Given the description of an element on the screen output the (x, y) to click on. 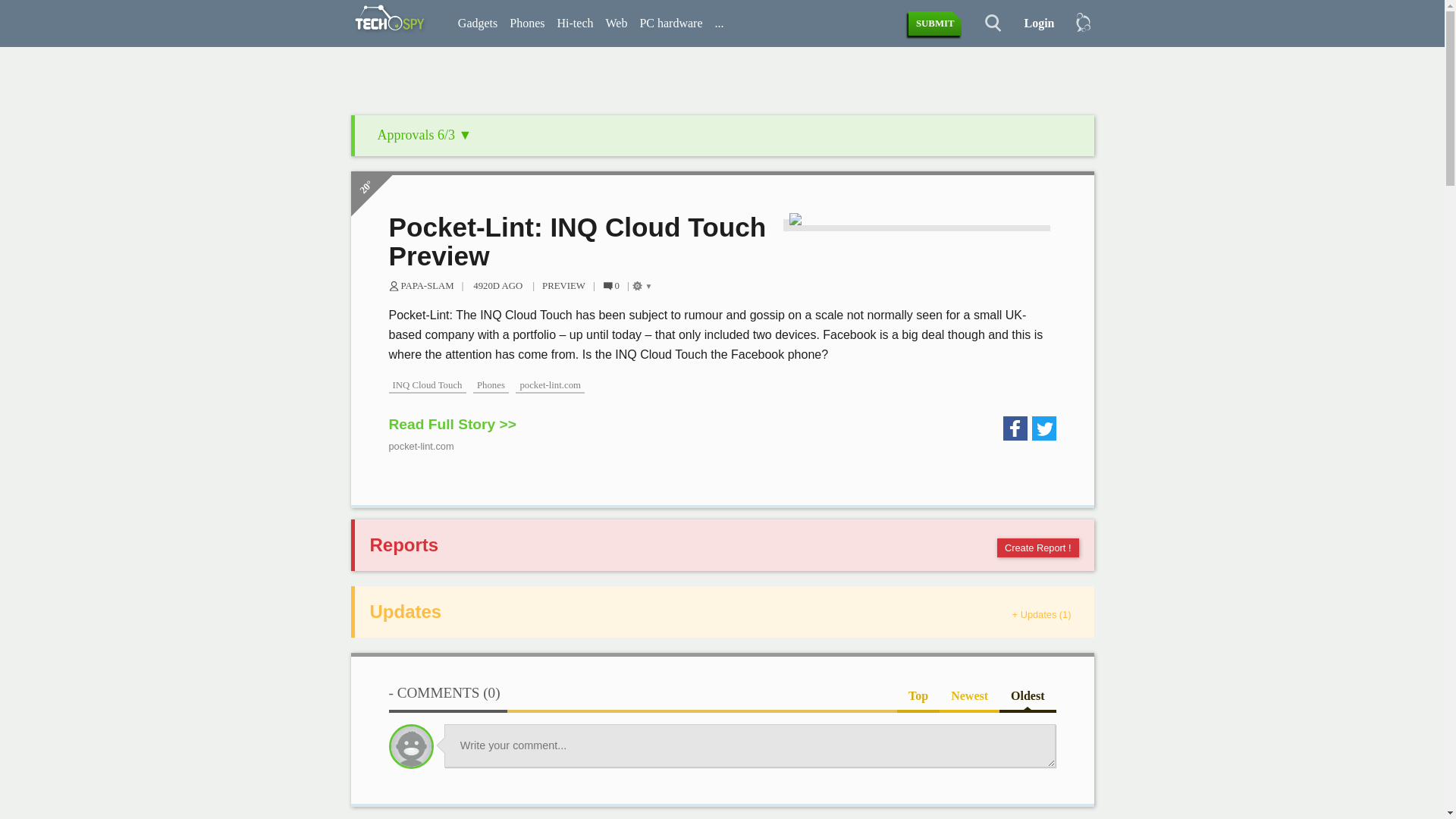
Web (615, 24)
Search (984, 23)
SUBMIT (935, 23)
PC hardware (670, 24)
Hi-tech (574, 24)
Gadgets (477, 24)
Login (1033, 23)
Phones (526, 24)
